Given the description of an element on the screen output the (x, y) to click on. 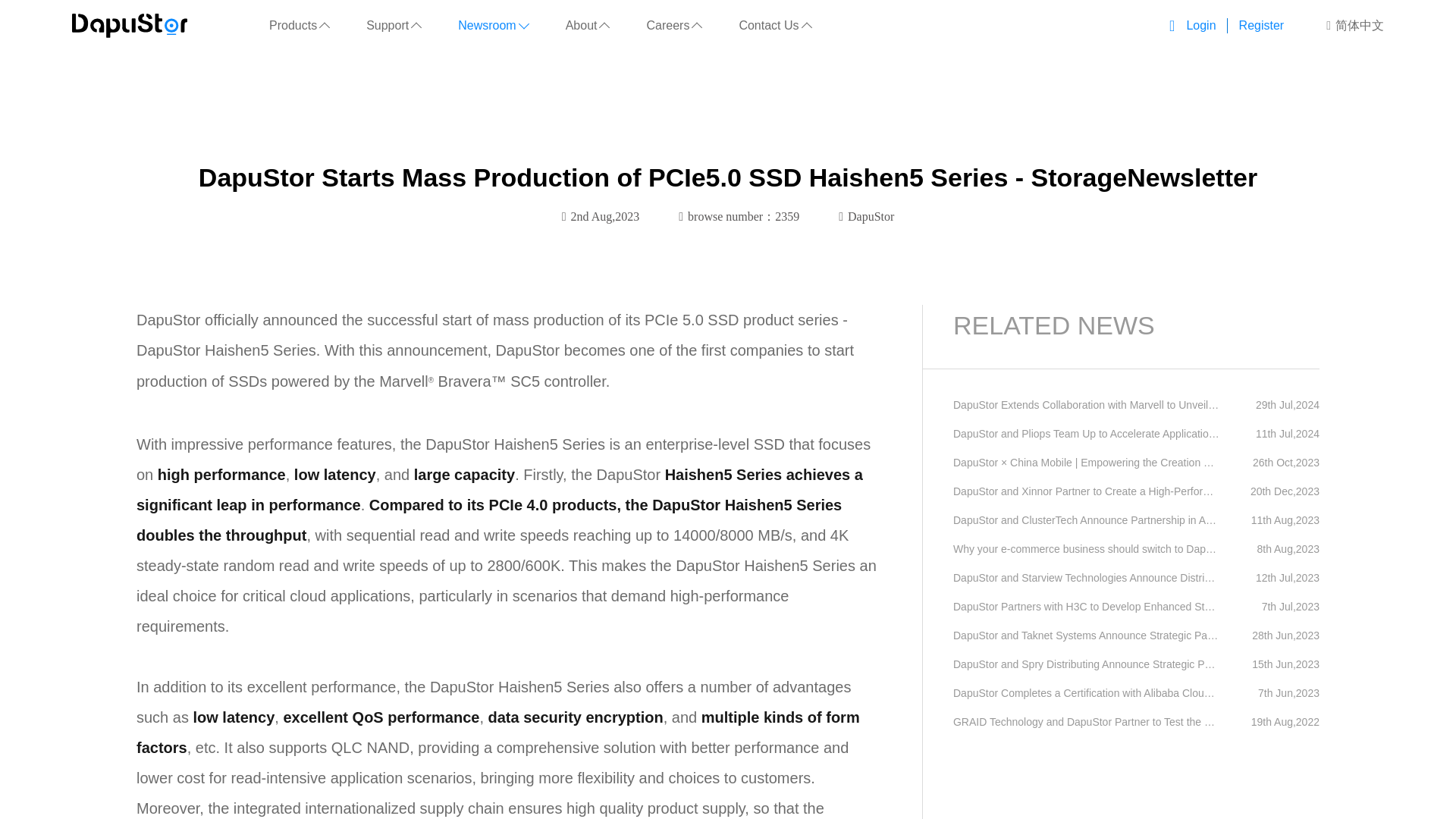
Support (393, 25)
Products (299, 25)
Newsroom (492, 25)
